Given the description of an element on the screen output the (x, y) to click on. 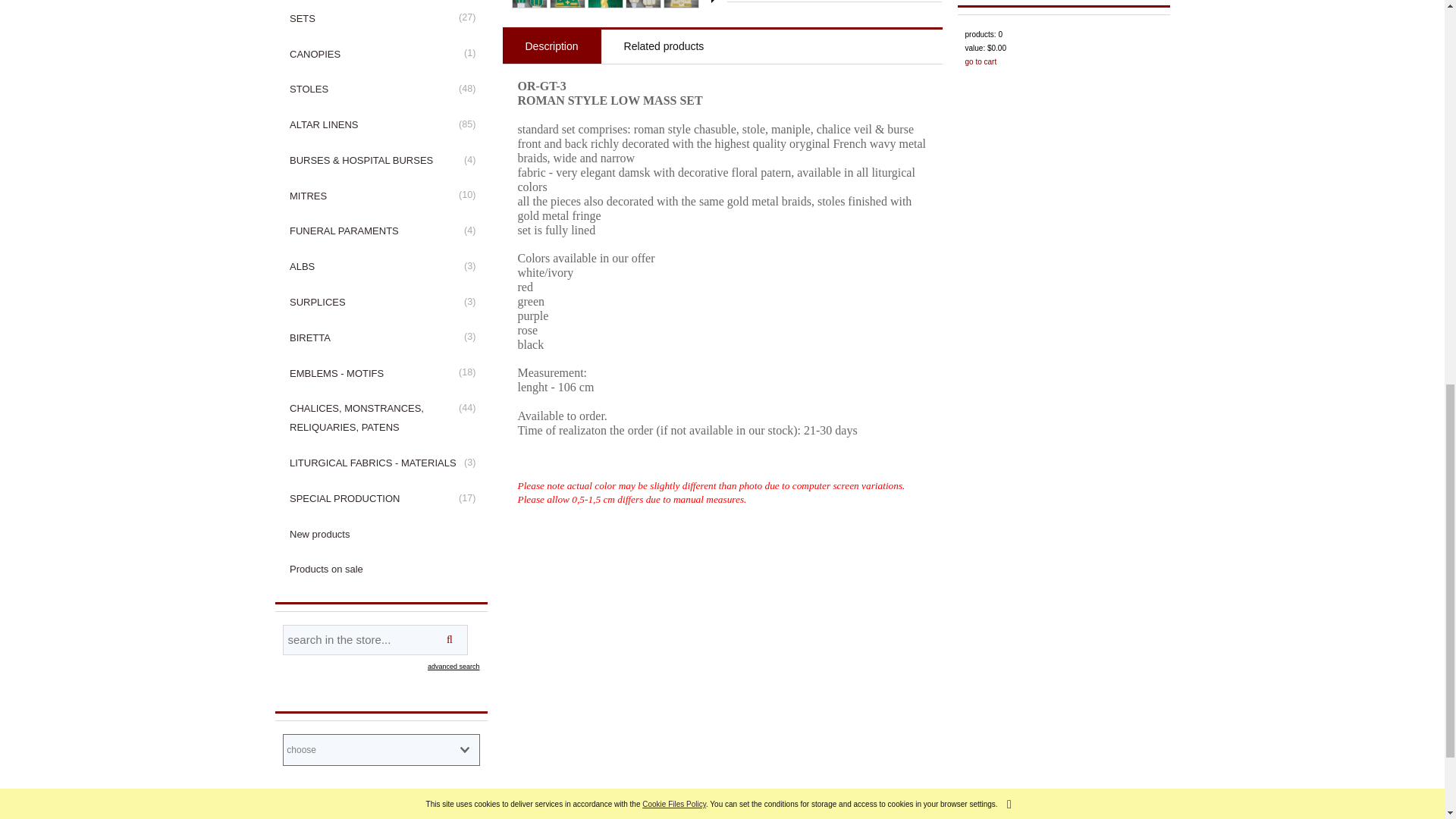
FUNERAL PARAMENTS (380, 231)
SURPLICES (380, 303)
SETS (380, 18)
MITRES (380, 195)
CANOPIES (380, 54)
ALTAR LINENS (380, 125)
ALBS (380, 267)
BIRETTA (380, 337)
STOLES (380, 89)
